Given the description of an element on the screen output the (x, y) to click on. 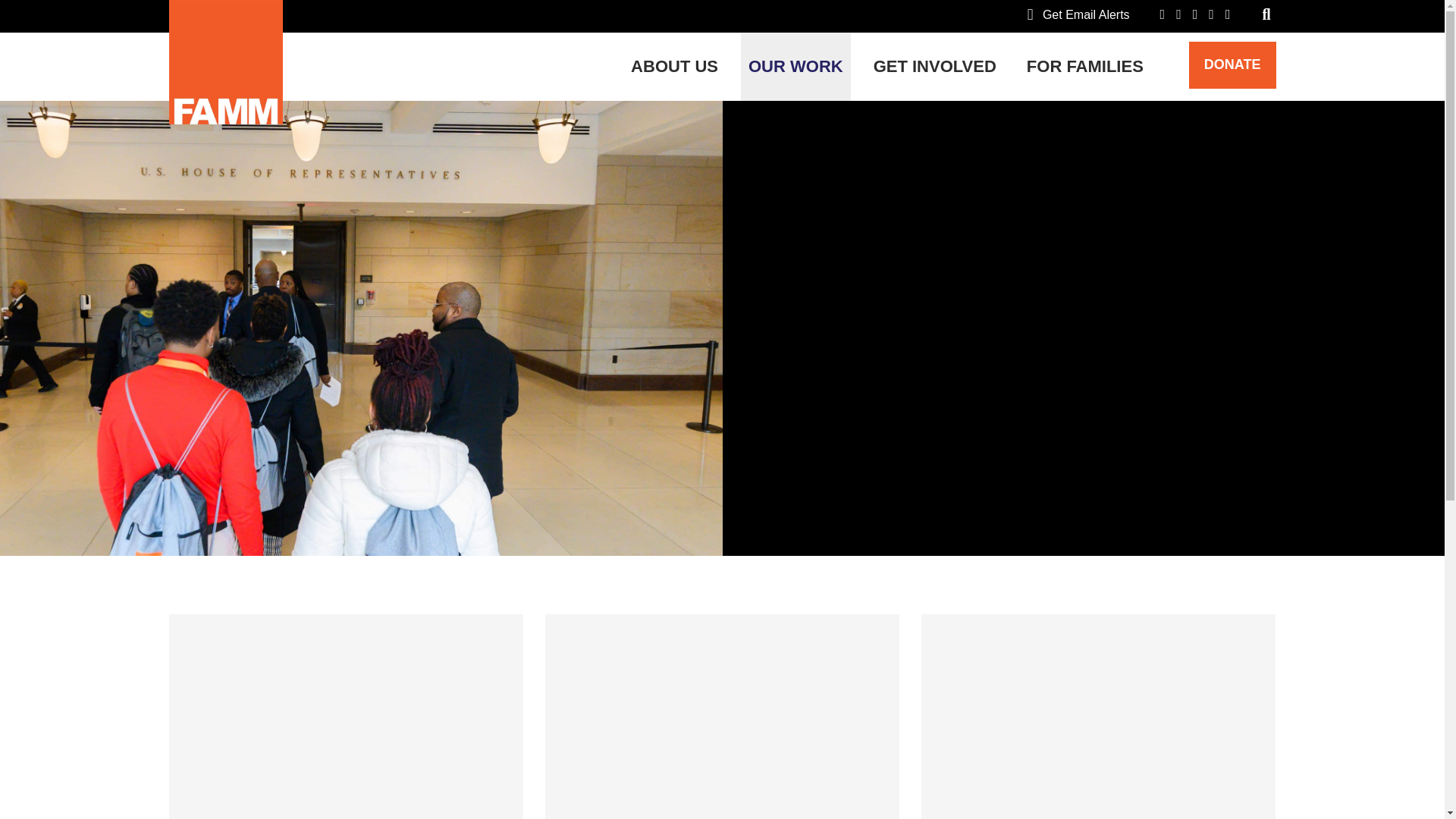
FOR FAMILIES (1085, 66)
GET INVOLVED (935, 66)
DONATE (1232, 64)
Get Email Alerts (1078, 14)
ABOUT US (674, 66)
Sentencing Reform (721, 716)
Famm Logo 1 (225, 62)
OUR WORK (795, 66)
Second Chances (345, 716)
